Given the description of an element on the screen output the (x, y) to click on. 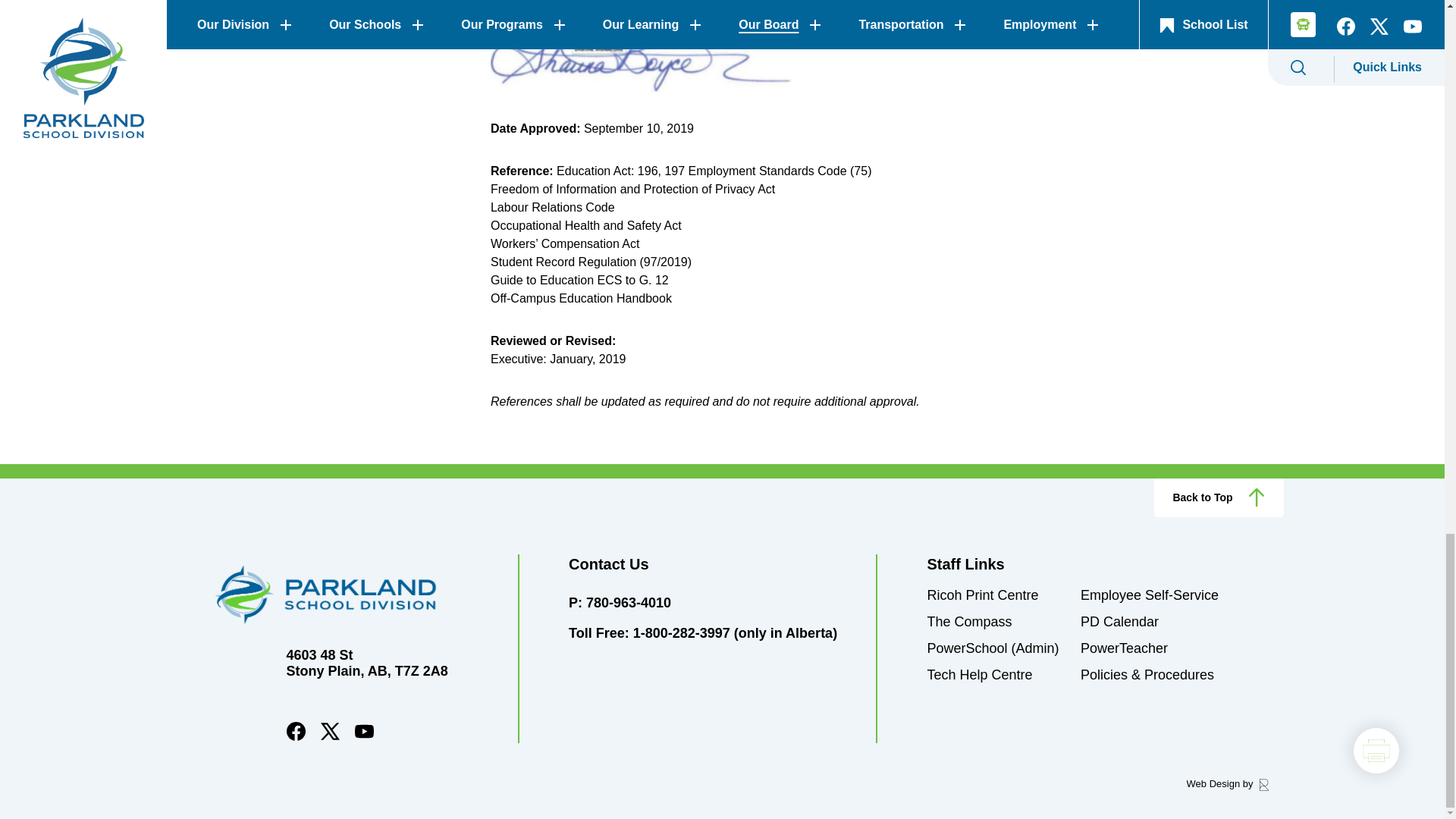
Employee Self-Service (1149, 595)
Facebook (296, 737)
Parkland School Division (348, 595)
Youtube (364, 737)
Ricoh Print Centre (982, 595)
Twitter (329, 737)
The Compass (968, 621)
